Given the description of an element on the screen output the (x, y) to click on. 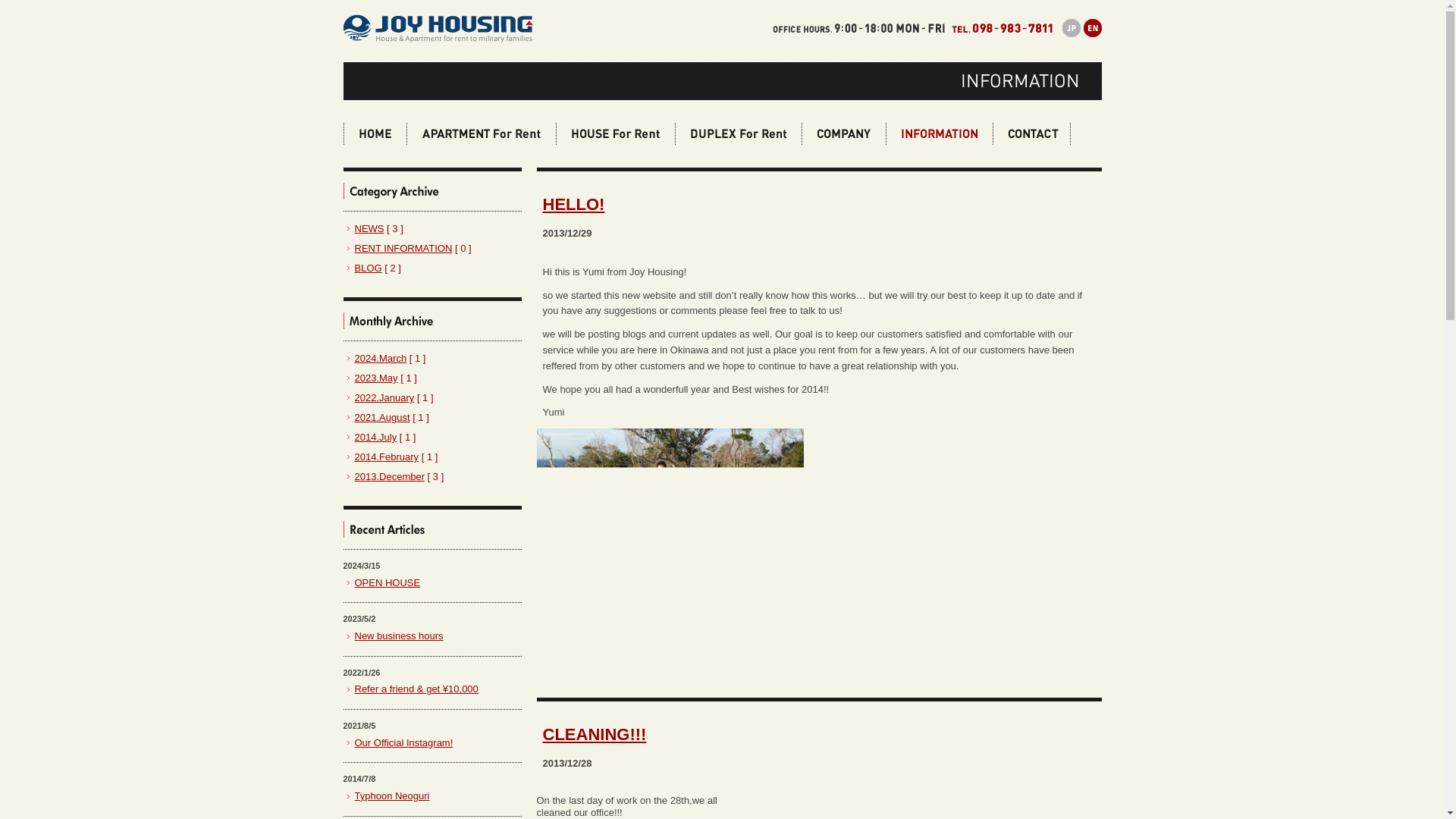
2013.December (390, 476)
RENT INFORMATION (403, 247)
HELLO! (574, 203)
2014.July (376, 437)
BLOG (368, 267)
2022.January (384, 397)
2014.February (387, 456)
2024.March (381, 357)
NEWS (369, 228)
New business hours (399, 635)
